Given the description of an element on the screen output the (x, y) to click on. 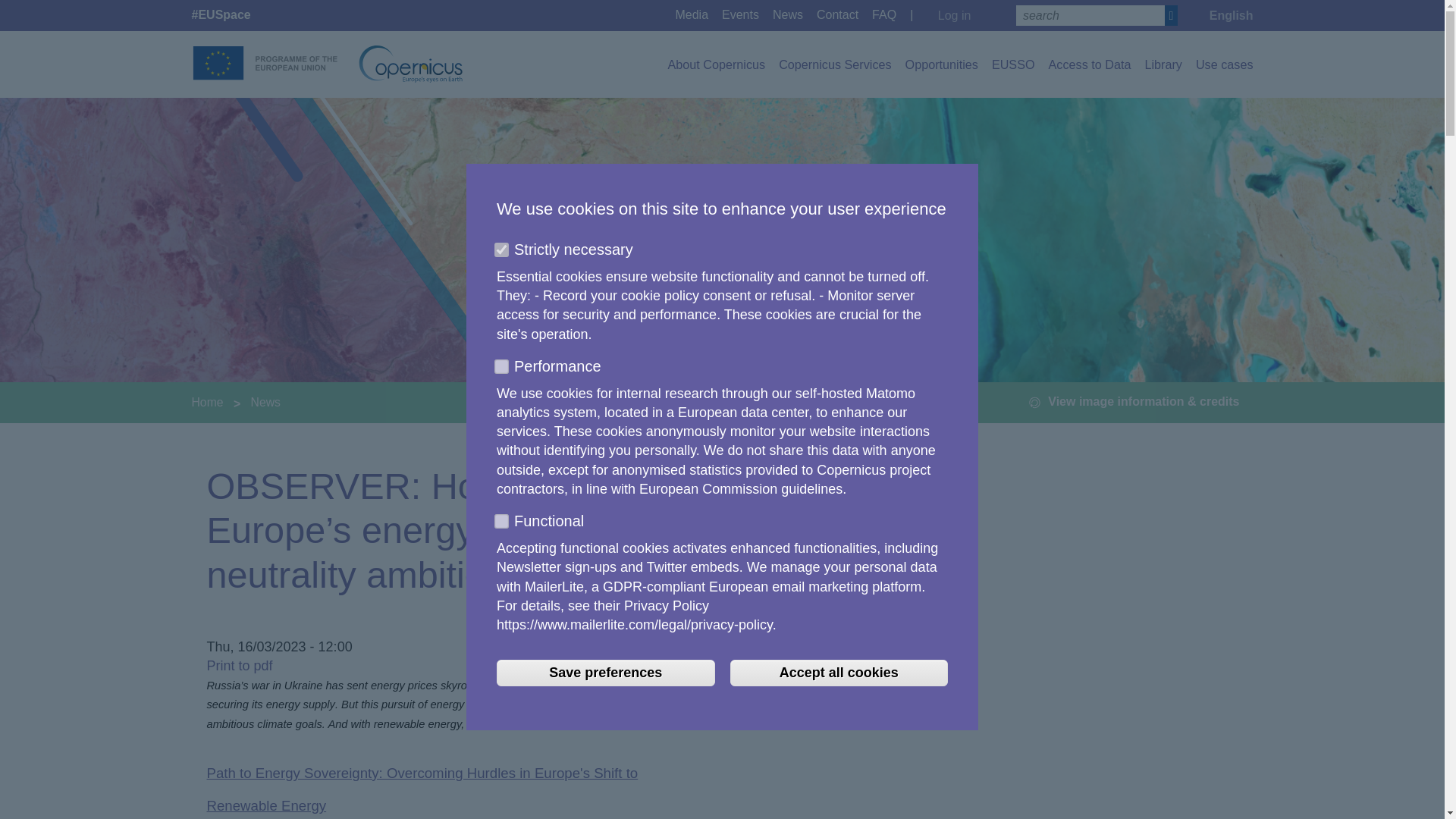
performance (499, 363)
necessary (499, 247)
functional (499, 519)
